Given the description of an element on the screen output the (x, y) to click on. 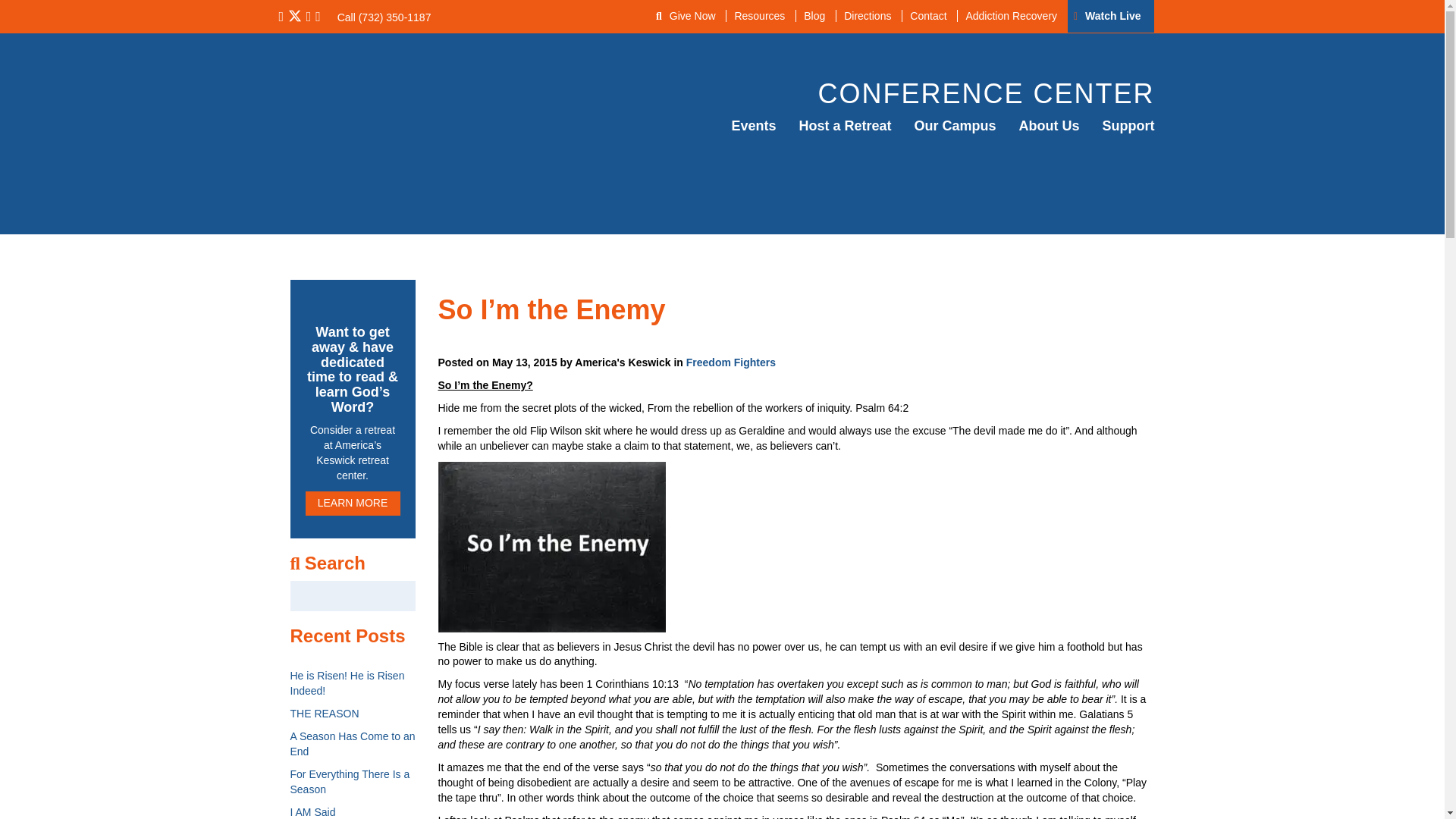
Resources (758, 15)
Christian Events in NJ (753, 125)
Contact (927, 15)
Events (753, 125)
Host a Retreat (844, 125)
Directions (866, 15)
Watch Live (1112, 15)
Christian Retreat Center (844, 125)
Addiction Recovery (1010, 15)
Give Now (692, 15)
